Given the description of an element on the screen output the (x, y) to click on. 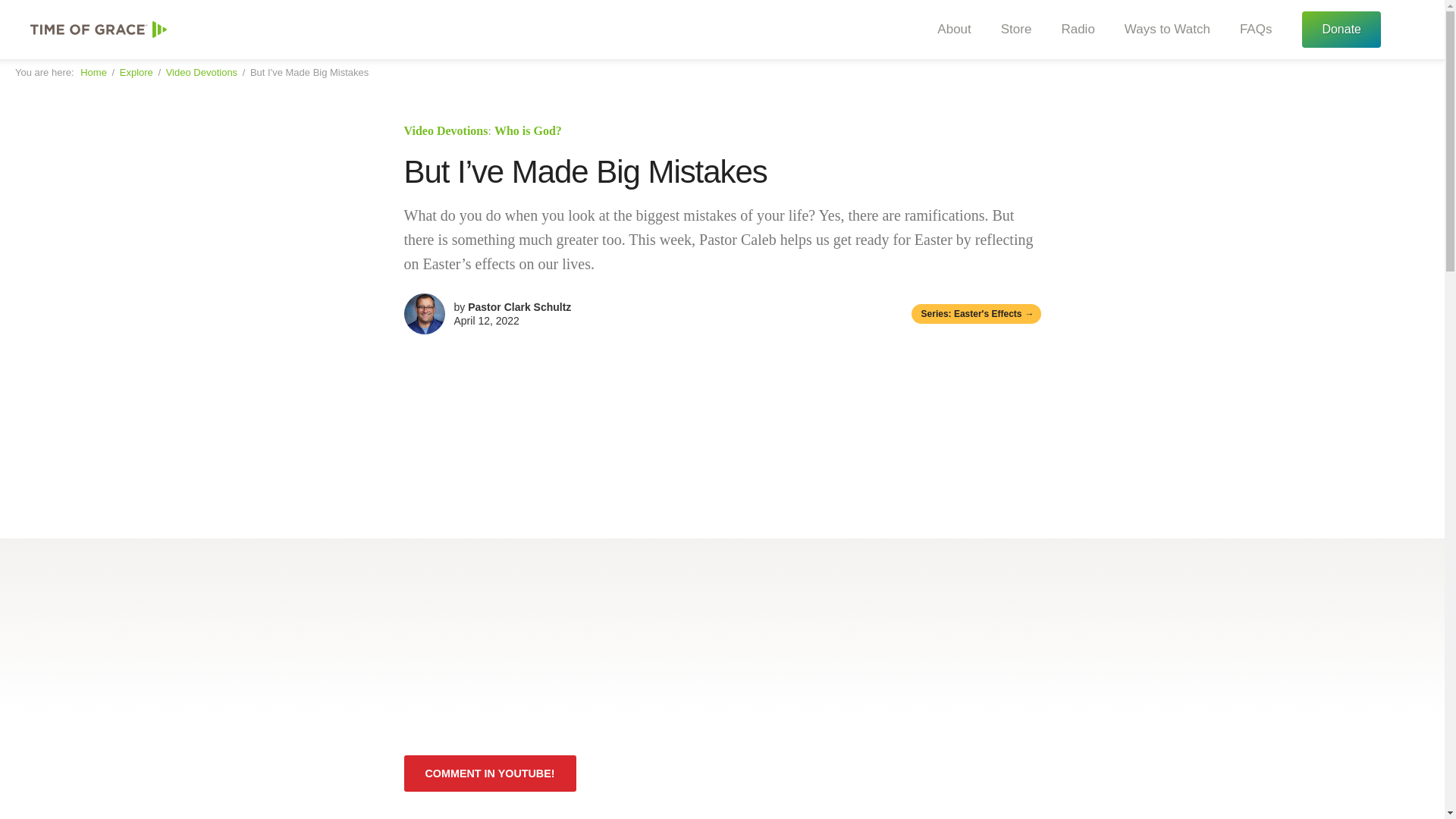
Donate (1340, 29)
Ways to Watch (1161, 29)
Radio (1071, 29)
Store (1011, 29)
About (948, 29)
FAQs (1250, 29)
